Given the description of an element on the screen output the (x, y) to click on. 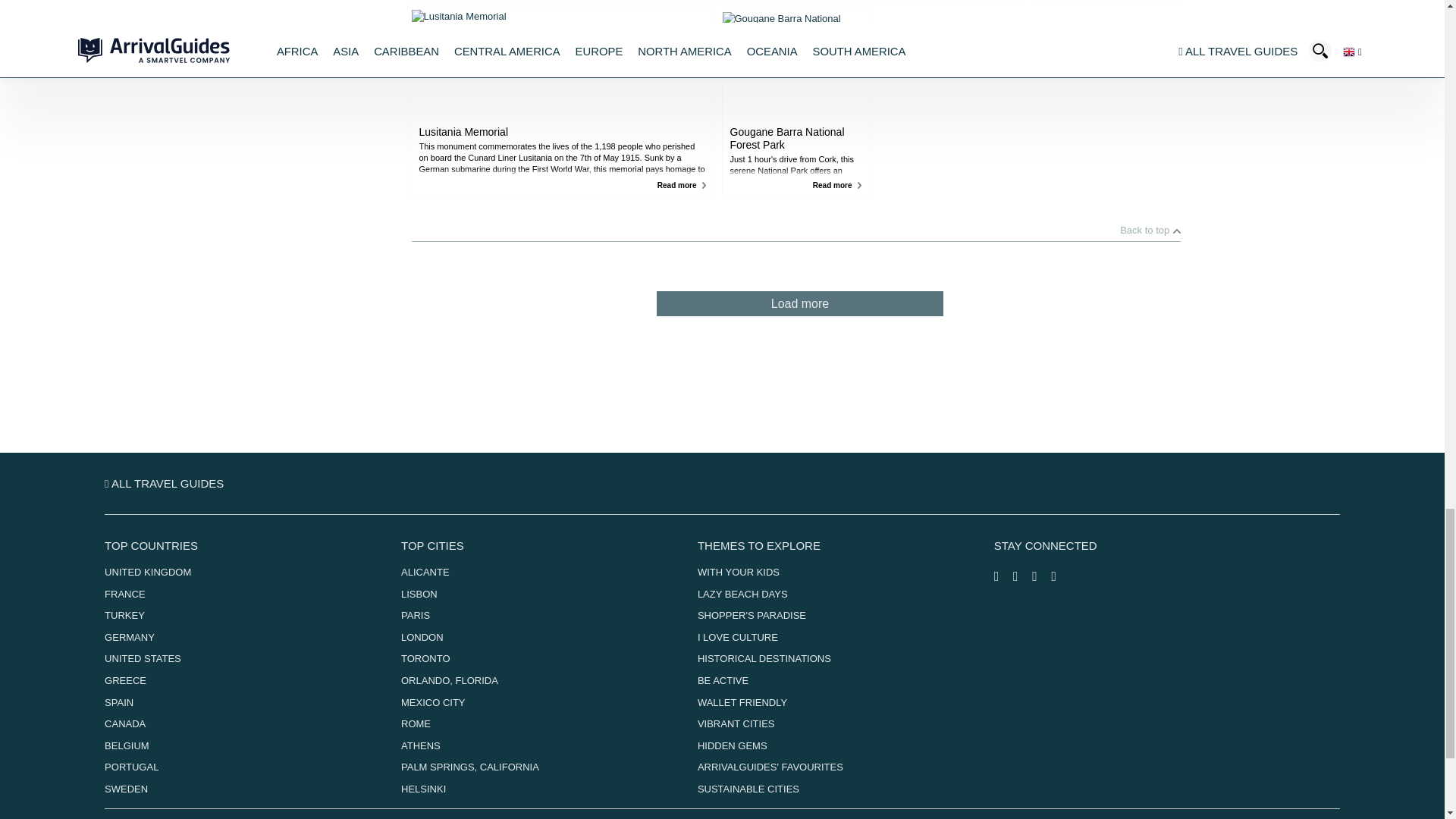
Facebook (1003, 577)
Youtube (1059, 577)
Instagram (1022, 577)
Twitter (1041, 577)
